Given the description of an element on the screen output the (x, y) to click on. 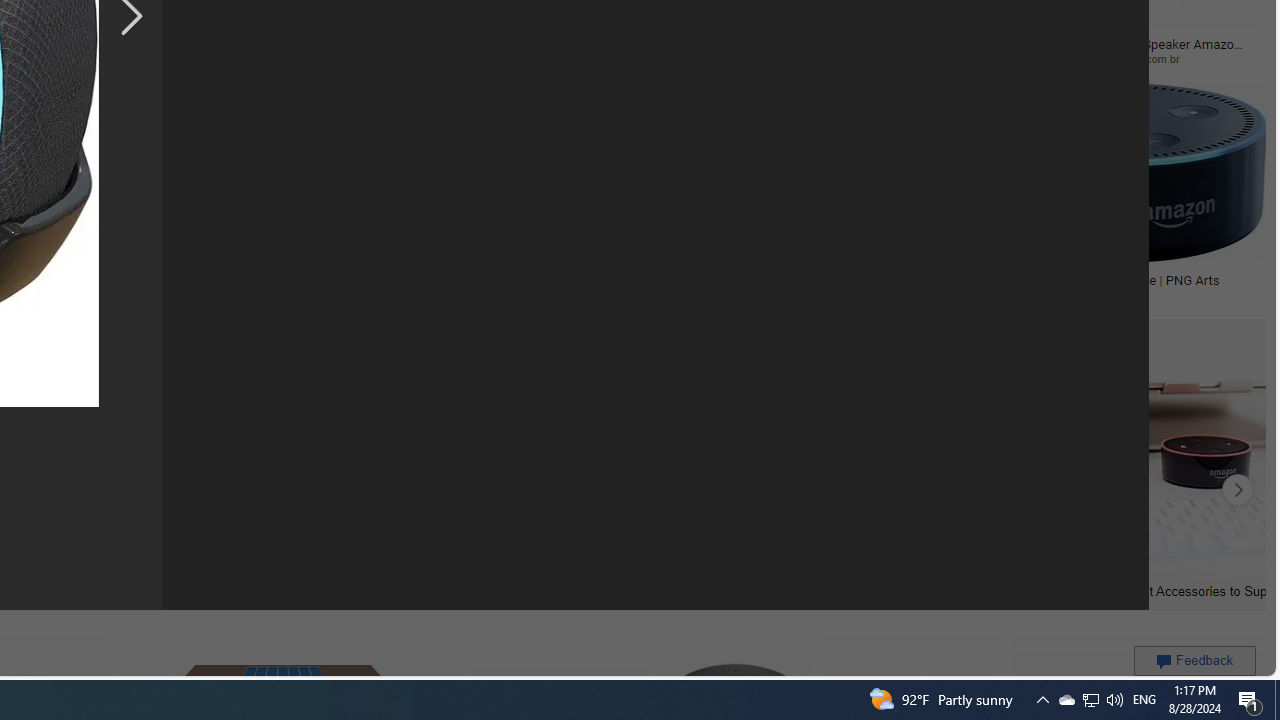
pnghq.com (741, 294)
winmaec.com (705, 57)
Alexa Dot Transparent Image | PNG Arts (1123, 279)
Amazonecho Dot With Alexa (Gen 4) (836, 279)
inpower.com.br (1149, 57)
amazon.com.mx (538, 58)
Image result for Amazon Echo Dot PNG (1122, 172)
